Given the description of an element on the screen output the (x, y) to click on. 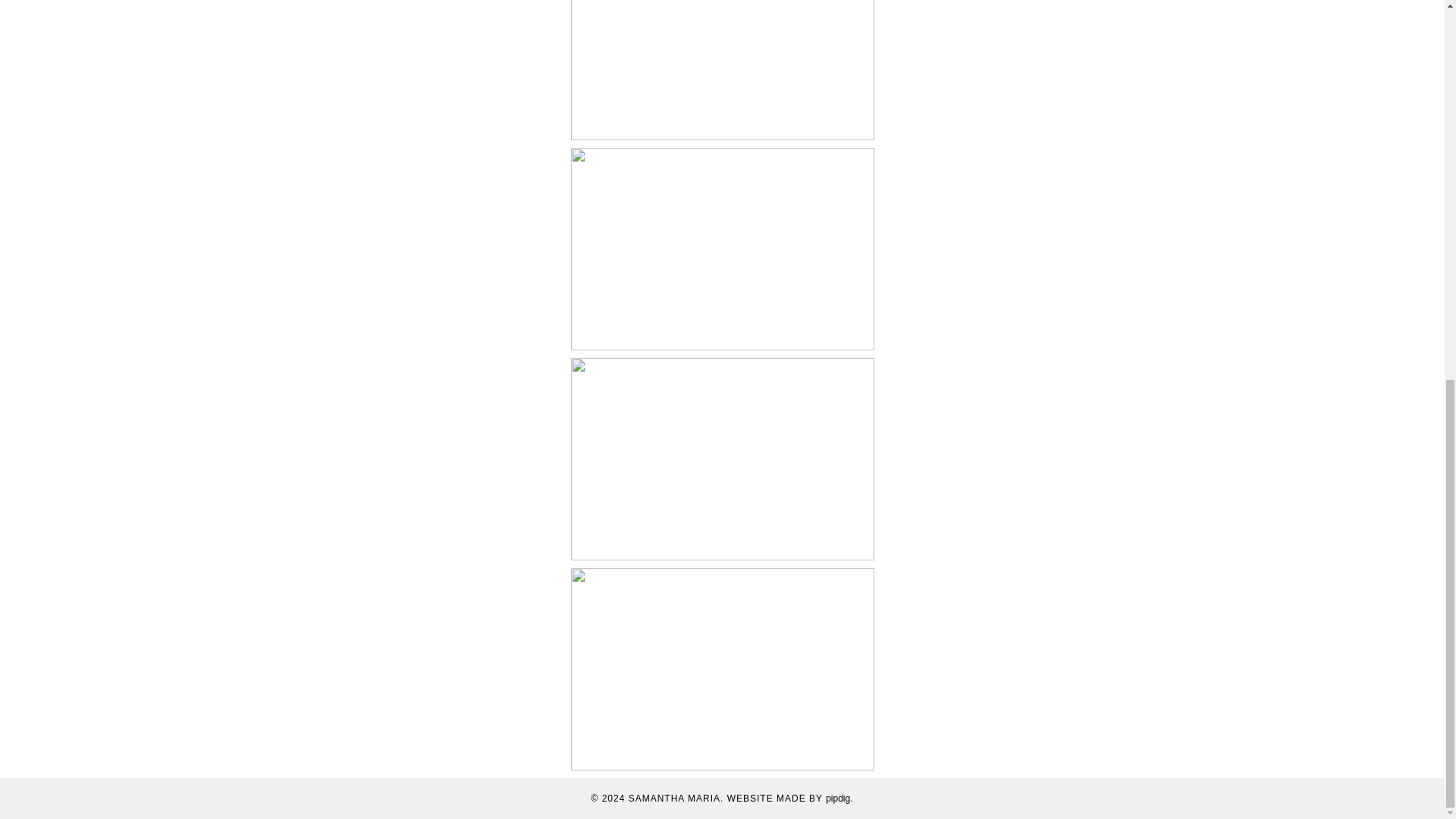
WEBSITE MADE BY pipdig (788, 798)
